Given the description of an element on the screen output the (x, y) to click on. 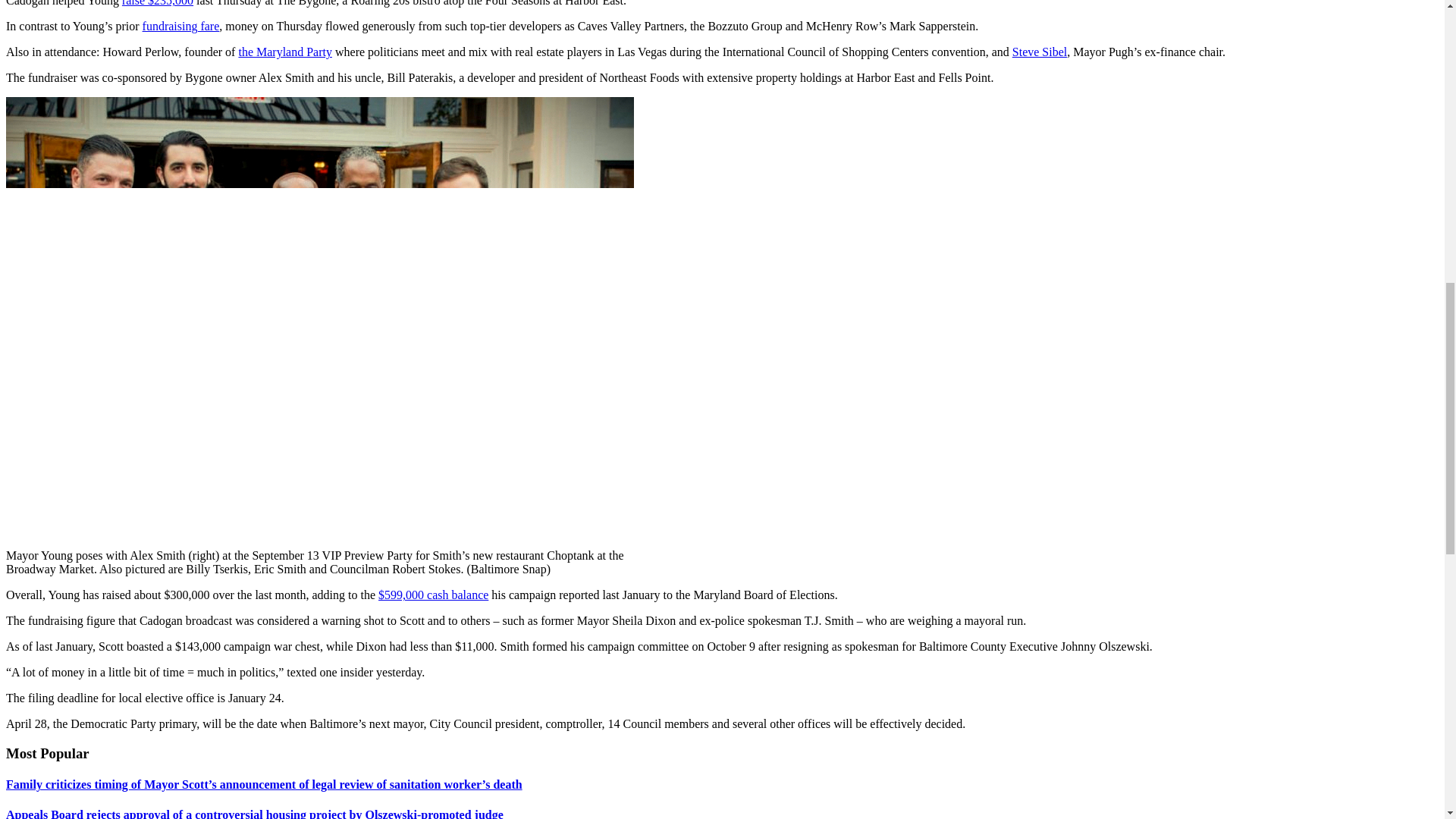
the Maryland Party (284, 51)
Steve Sibel (1039, 51)
fundraising fare (180, 25)
